Given the description of an element on the screen output the (x, y) to click on. 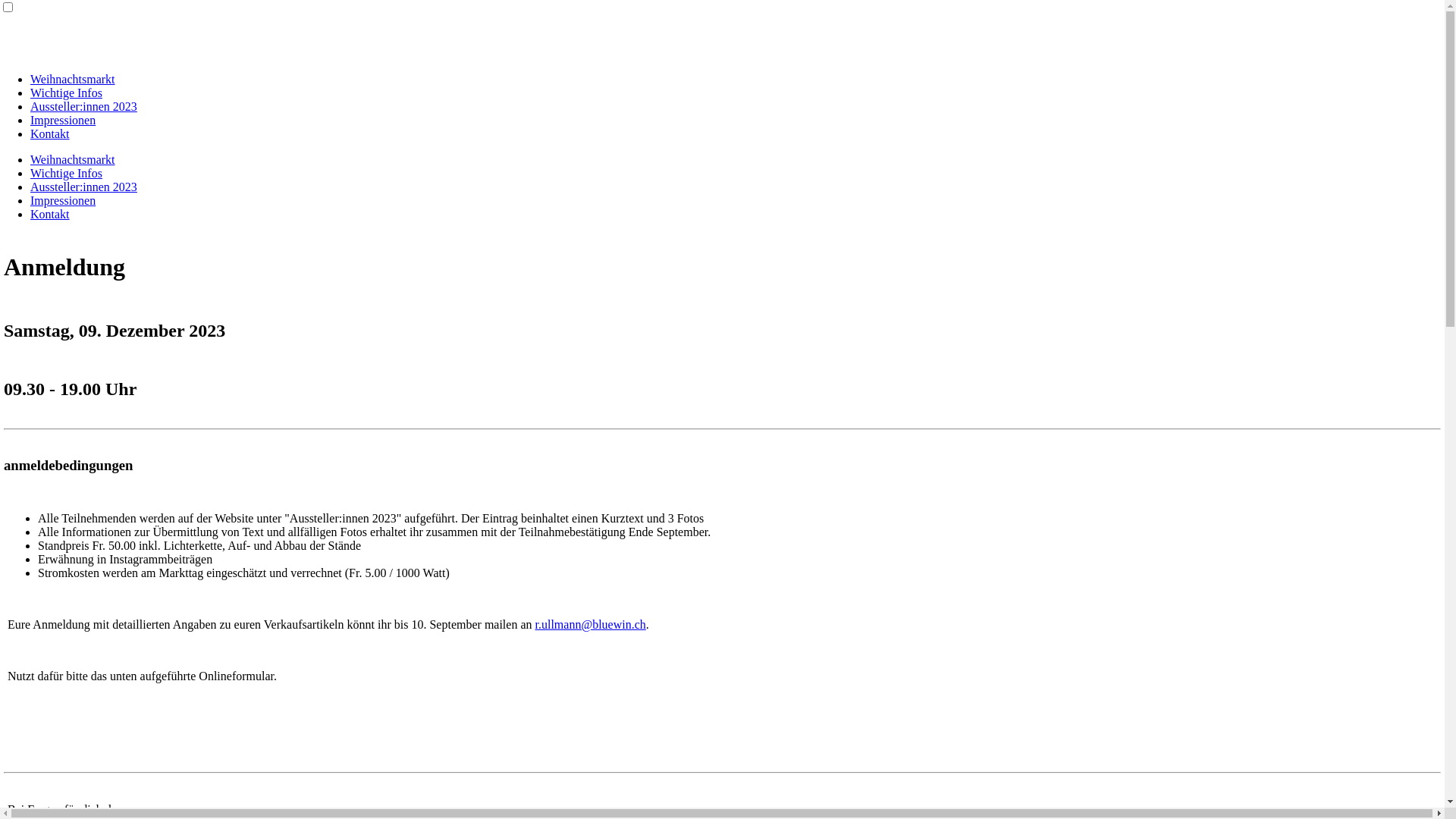
Weihnachtsmarkt Element type: text (72, 78)
Weihnachtsmarkt Element type: text (72, 159)
Aussteller:innen 2023 Element type: text (83, 186)
r.ullmann@bluewin.ch Element type: text (590, 624)
Aussteller:innen 2023 Element type: text (83, 106)
Kontakt Element type: text (49, 213)
Wichtige Infos Element type: text (66, 172)
Kontakt Element type: text (49, 133)
Impressionen Element type: text (62, 200)
Impressionen Element type: text (62, 119)
Wichtige Infos Element type: text (66, 92)
